Given the description of an element on the screen output the (x, y) to click on. 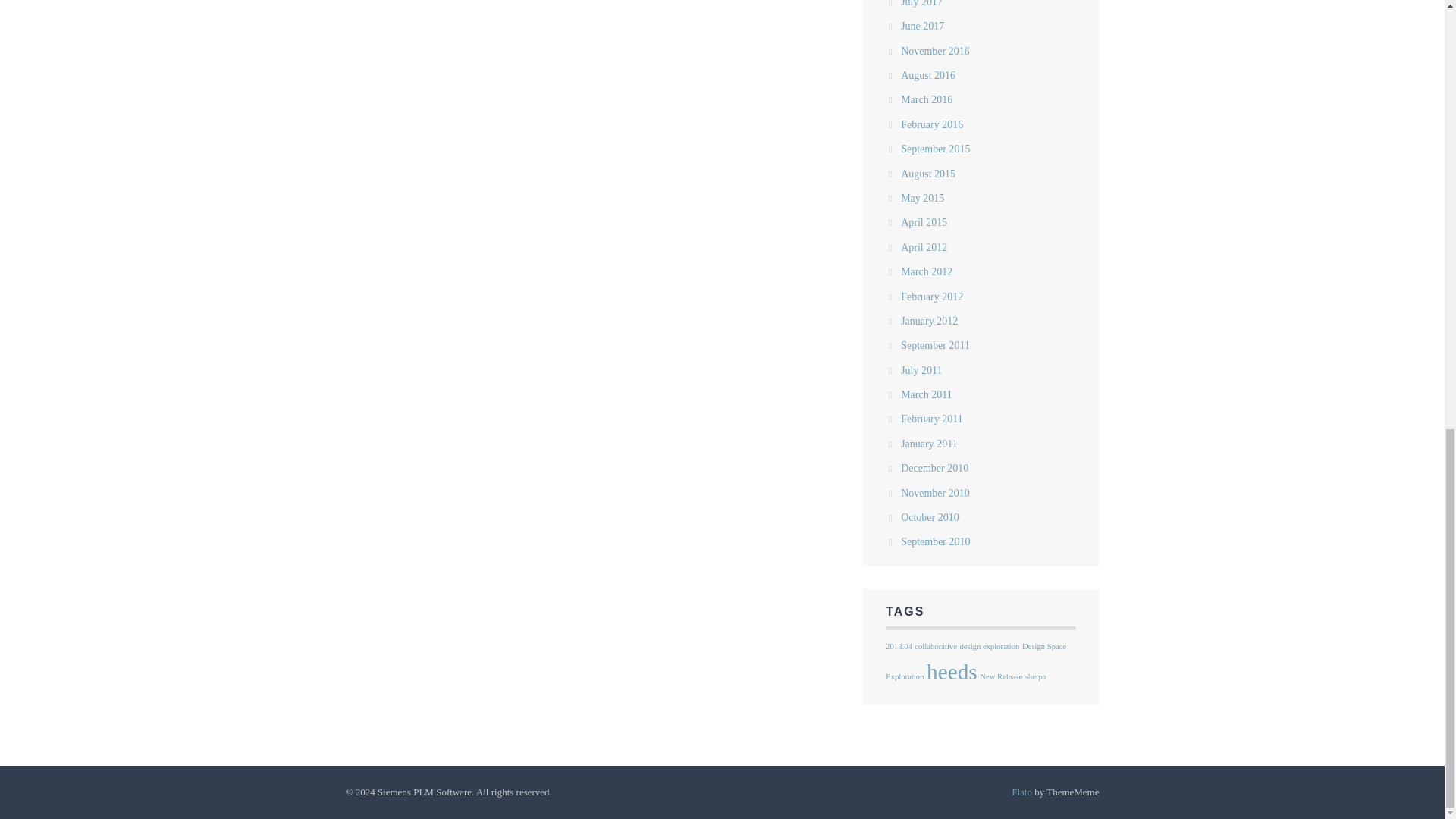
August 2016 (928, 75)
July 2017 (921, 3)
June 2017 (922, 25)
March 2012 (926, 271)
April 2015 (924, 222)
September 2015 (935, 148)
January 2012 (929, 320)
August 2015 (928, 173)
March 2016 (926, 99)
February 2016 (931, 124)
